Given the description of an element on the screen output the (x, y) to click on. 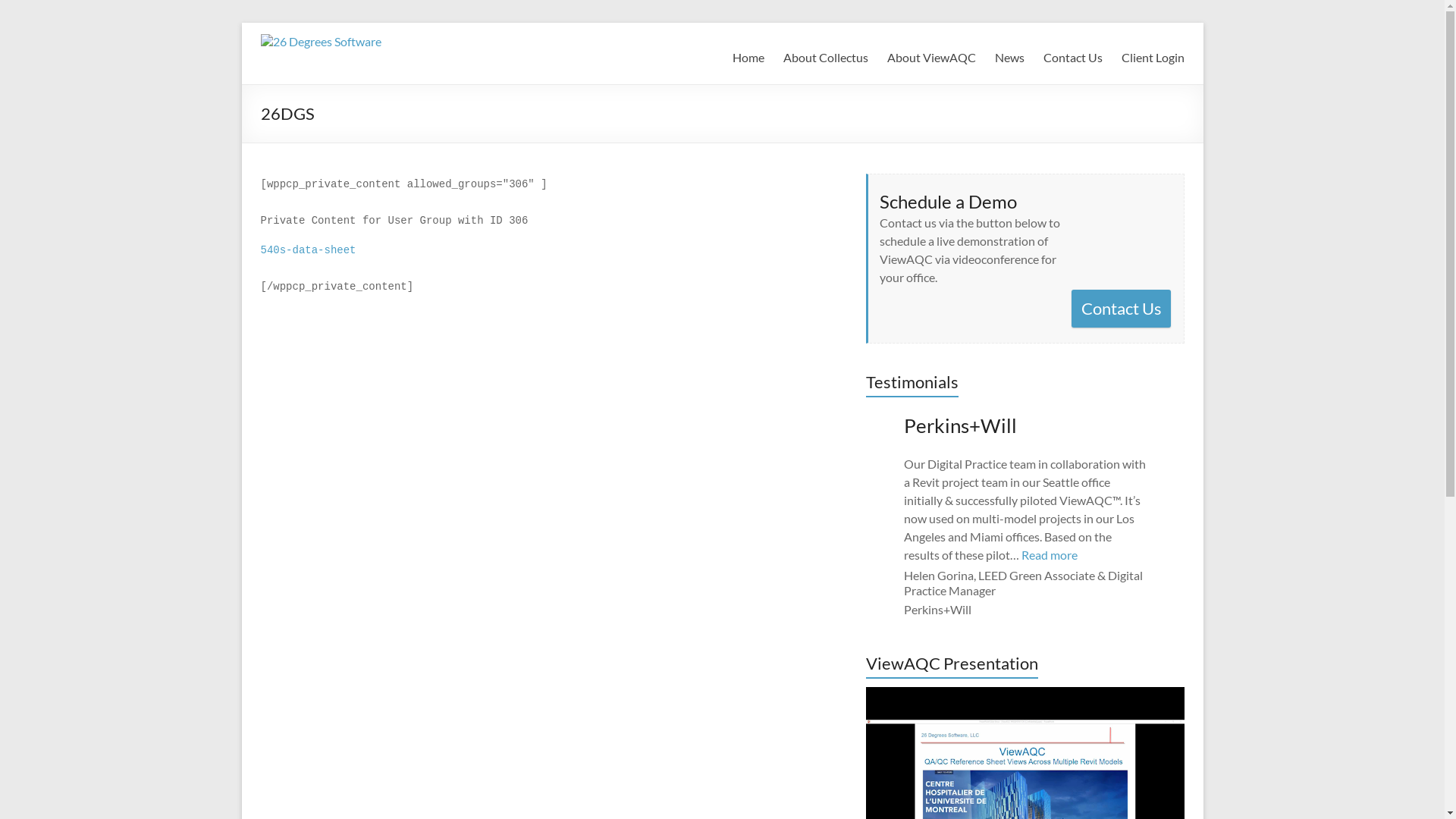
News Element type: text (1009, 54)
Contact Us Element type: text (1072, 54)
Home Element type: text (748, 54)
540s-data-sheet Element type: text (308, 250)
Contact Us Element type: text (1120, 308)
Client Login Element type: text (1151, 54)
Read more Element type: text (1048, 554)
About ViewAQC Element type: text (931, 54)
About Collectus Element type: text (824, 54)
